Given the description of an element on the screen output the (x, y) to click on. 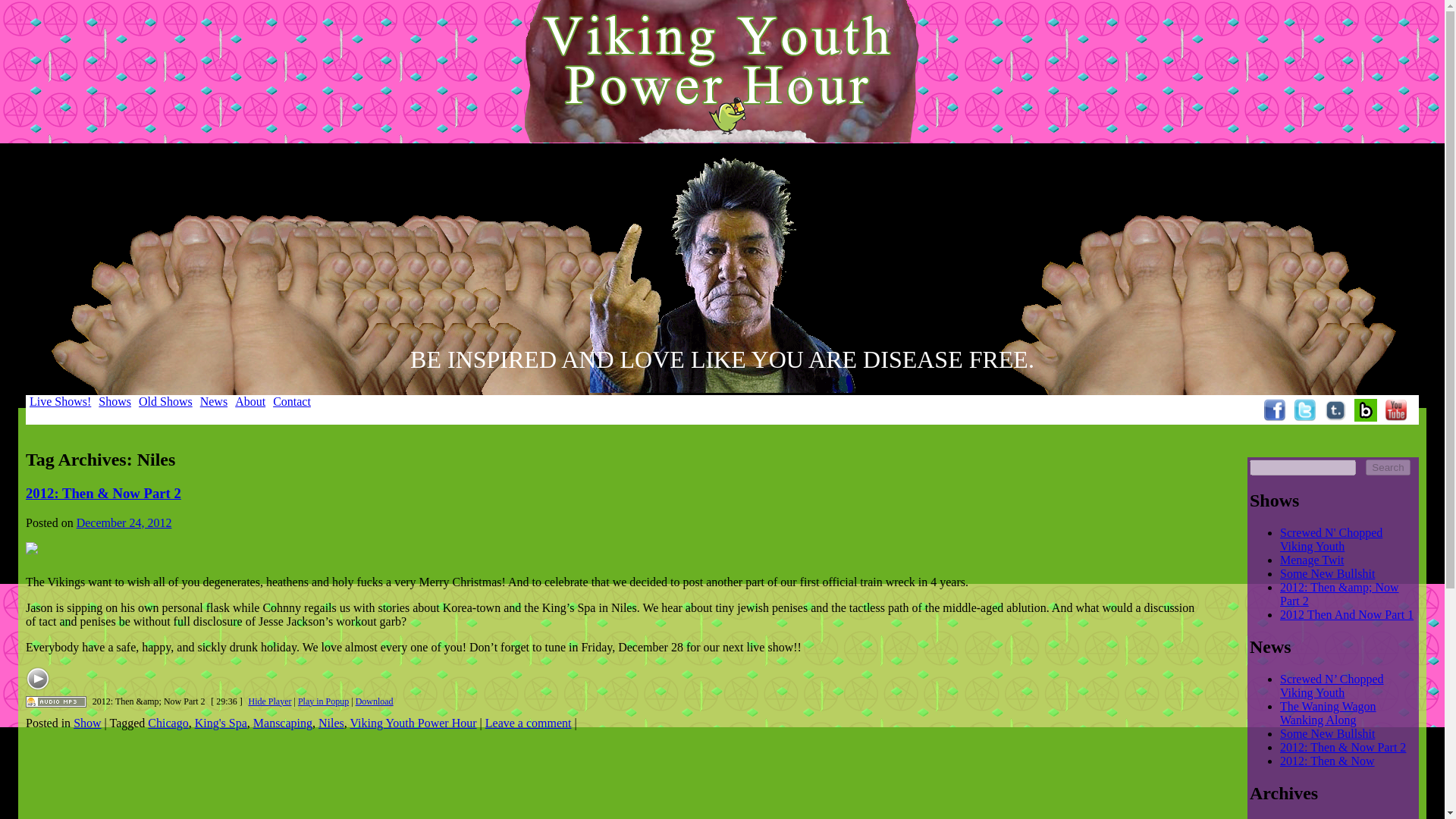
Leave a comment (528, 722)
King's Spa (221, 722)
Niles (330, 722)
News (213, 400)
About (250, 400)
Some New Bullshit (1326, 573)
Search (1387, 467)
Screwed N' Chopped Viking Youth (1330, 539)
Download (374, 701)
Search (1387, 467)
